Given the description of an element on the screen output the (x, y) to click on. 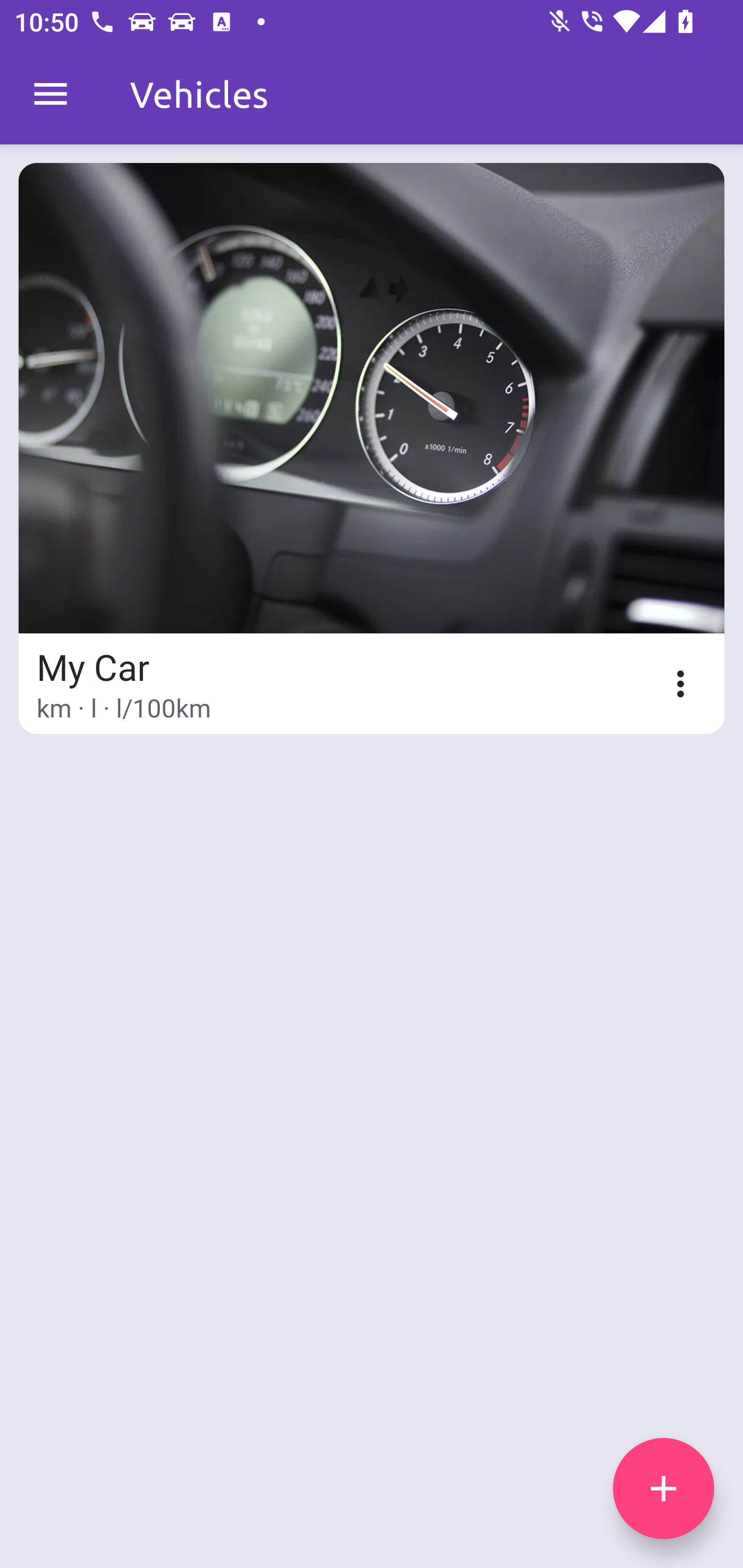
MenuDrawer (50, 93)
My Car km · l · l/100km (371, 448)
add icon (663, 1488)
